Given the description of an element on the screen output the (x, y) to click on. 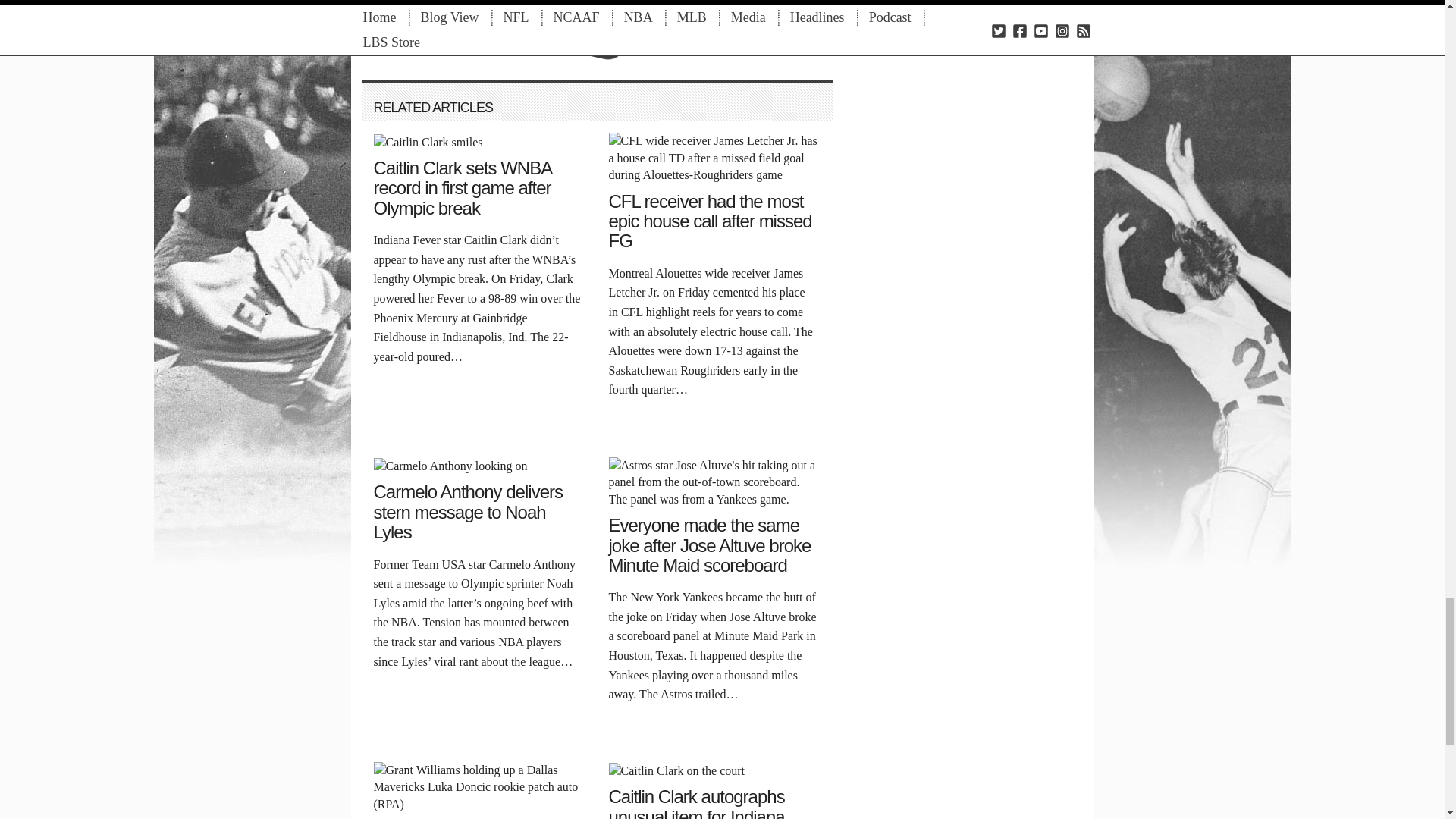
CFL receiver had the most epic house call after missed FG (714, 156)
Caitlin Clark autographs unusual item for Indiana Fever fan (676, 769)
Carmelo Anthony delivers stern message to Noah Lyles (449, 464)
